Given the description of an element on the screen output the (x, y) to click on. 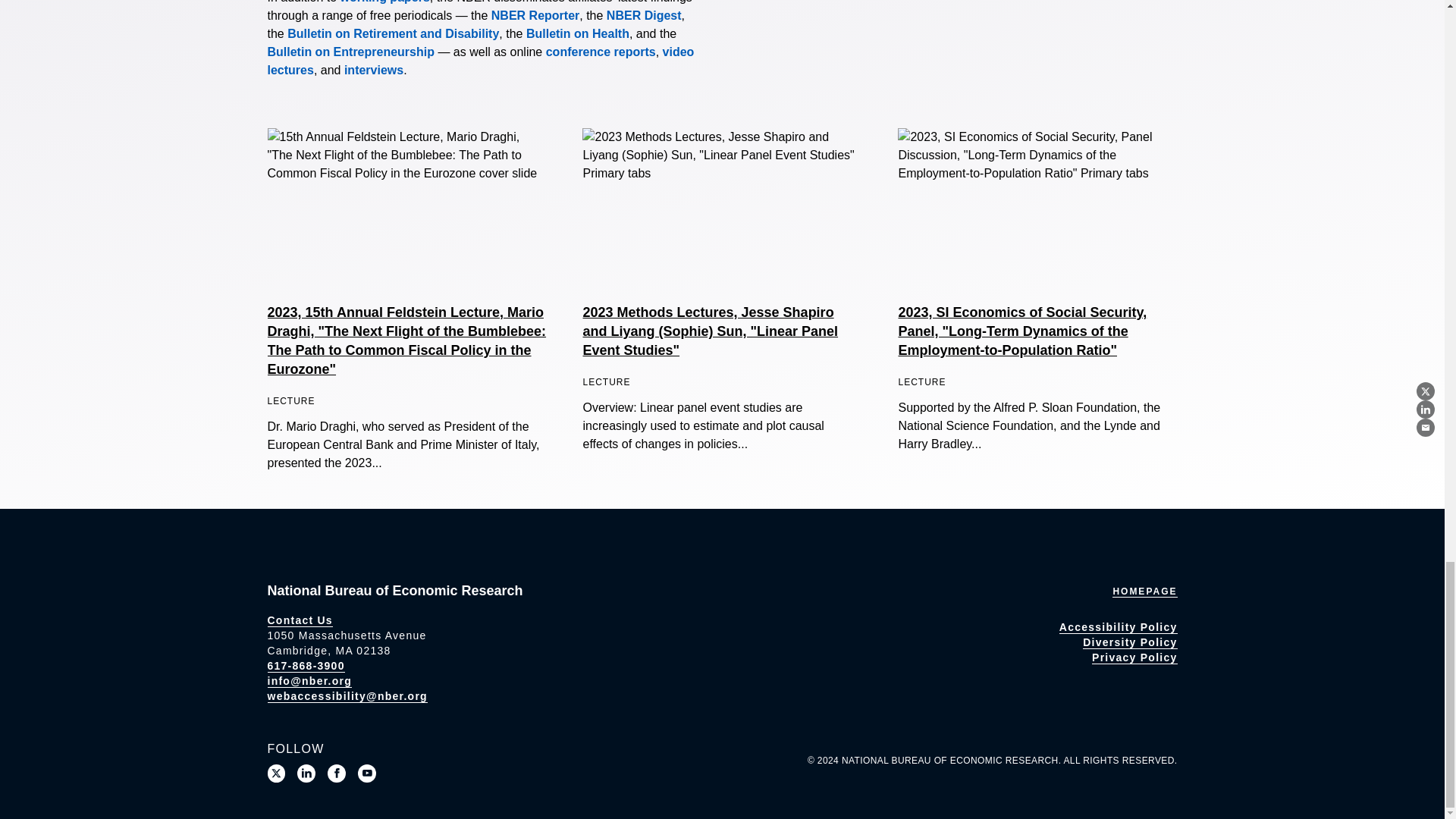
Research Spotlights (373, 69)
Lectures (480, 60)
Working Papers (384, 2)
Conferences (601, 51)
